Given the description of an element on the screen output the (x, y) to click on. 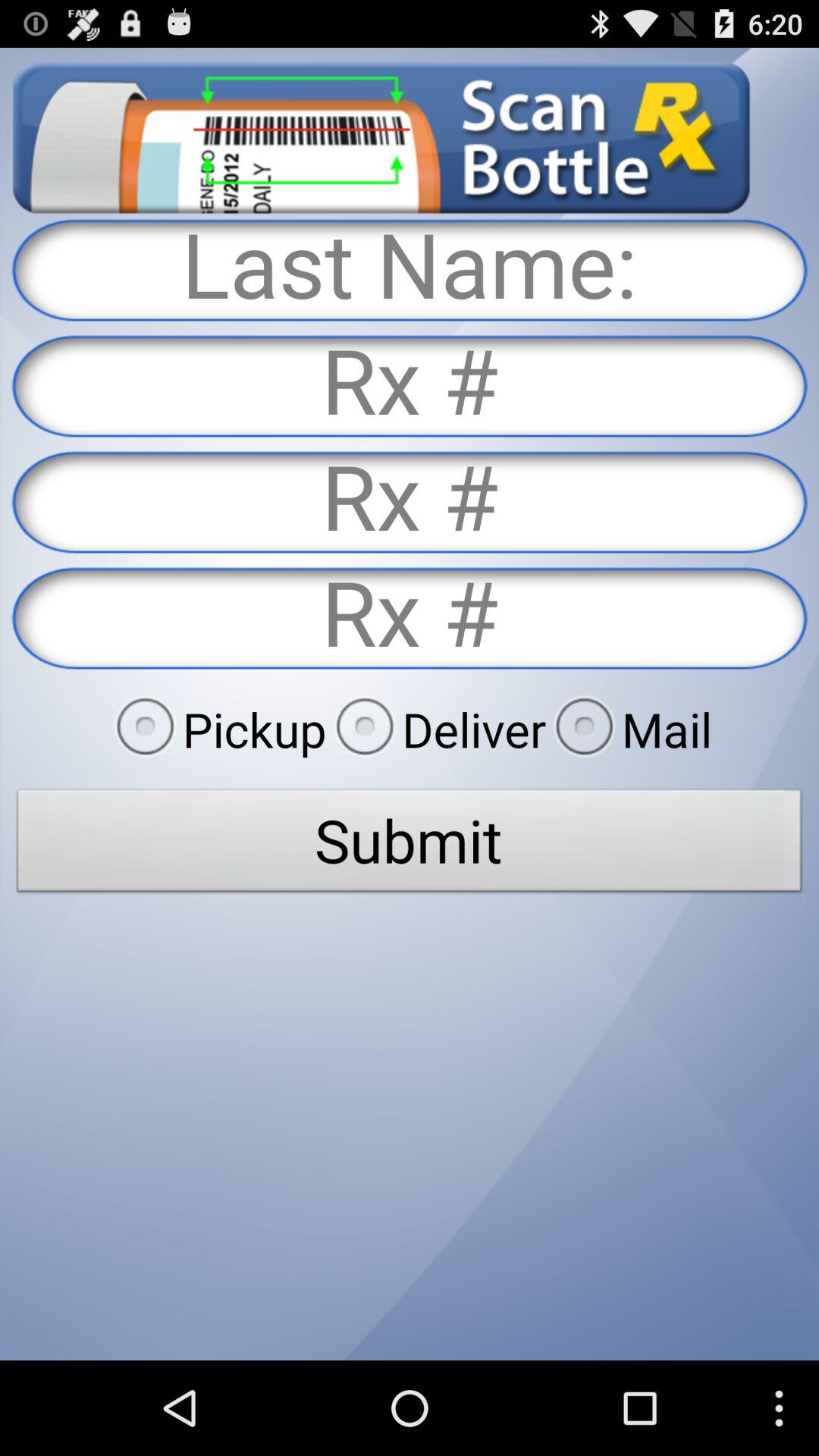
press item above the submit button (436, 728)
